Given the description of an element on the screen output the (x, y) to click on. 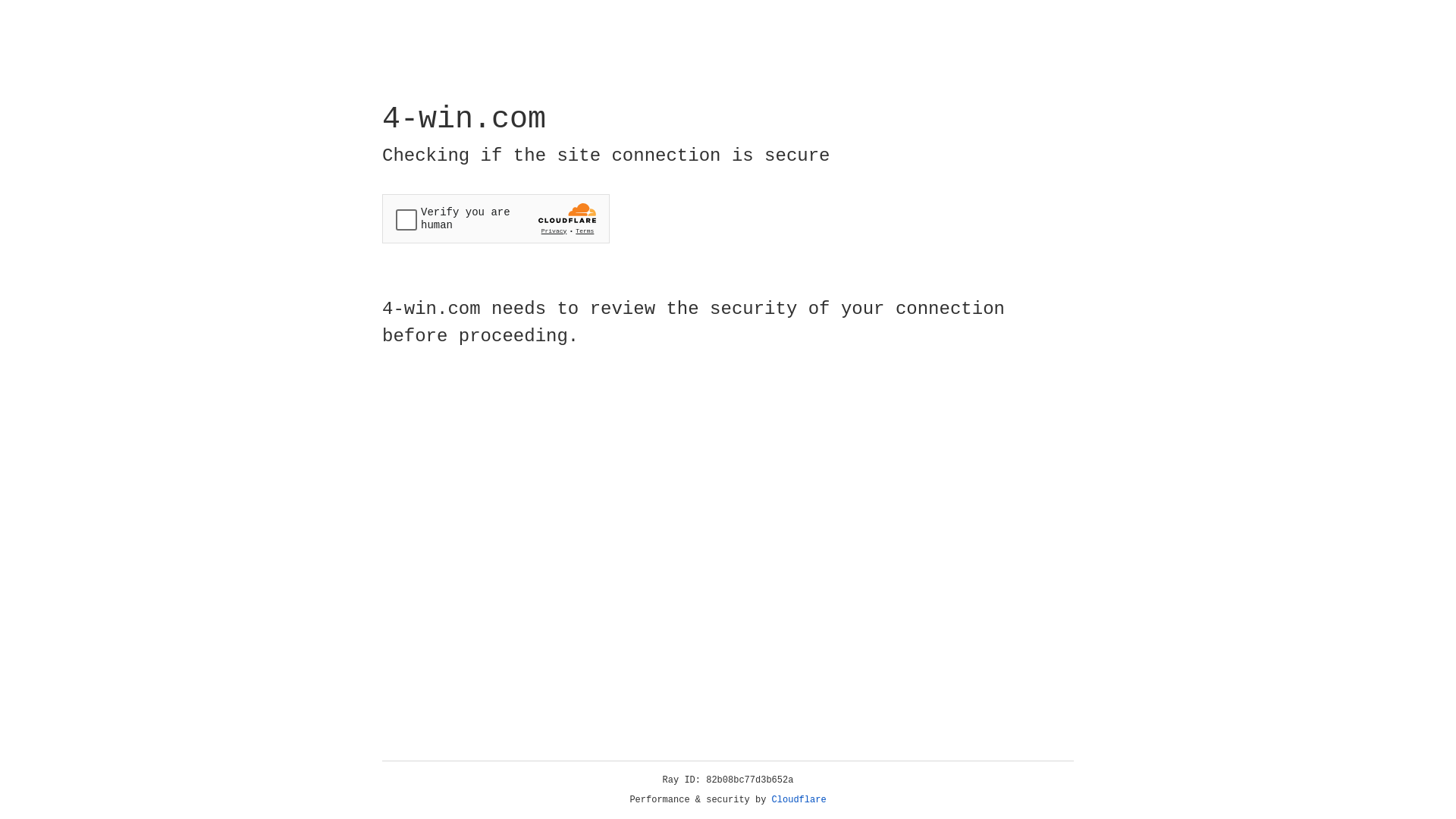
Cloudflare Element type: text (798, 799)
Widget containing a Cloudflare security challenge Element type: hover (495, 218)
